Given the description of an element on the screen output the (x, y) to click on. 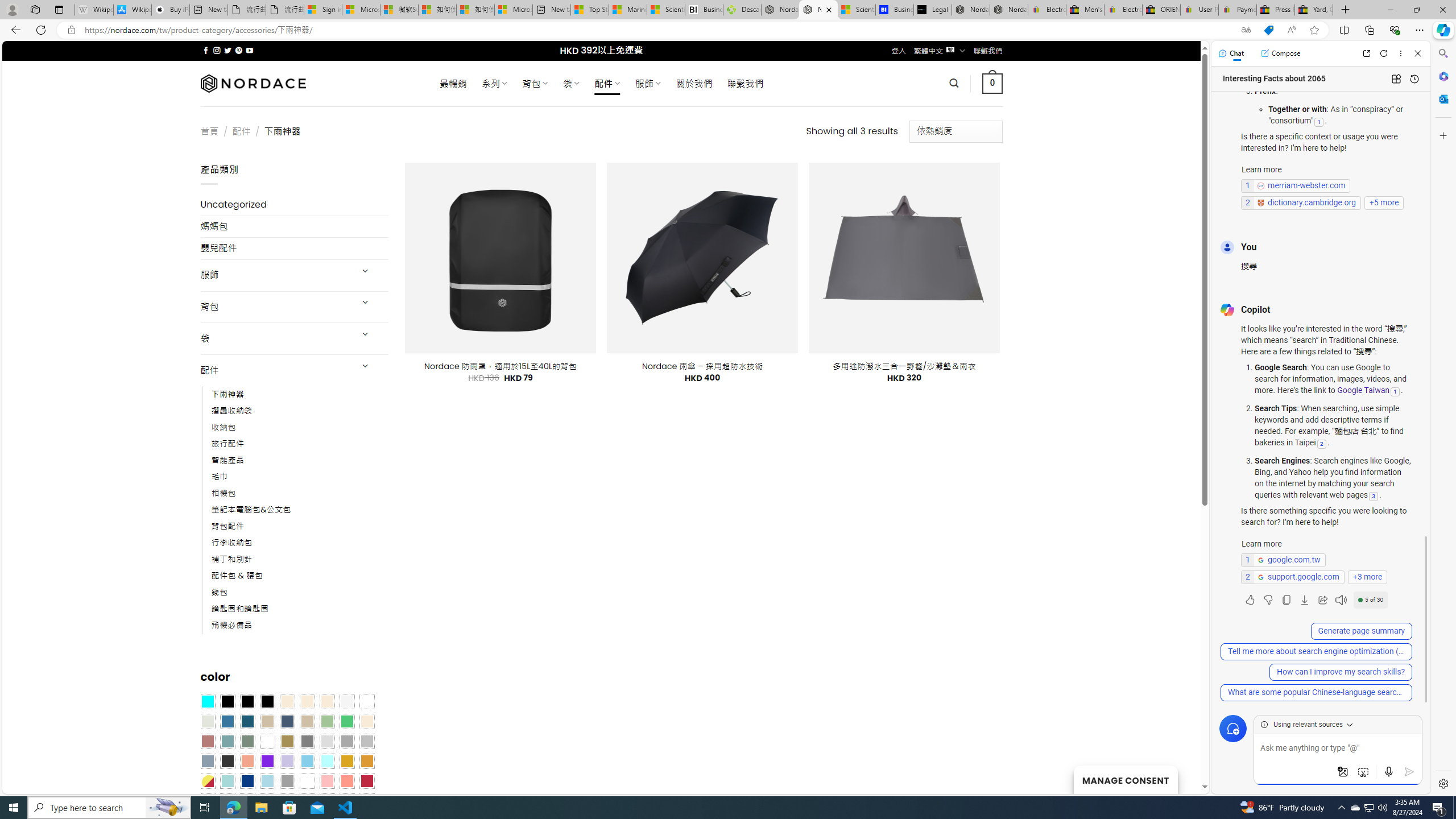
User Privacy Notice | eBay (1198, 9)
This site has coupons! Shopping in Microsoft Edge (1268, 29)
